Given the description of an element on the screen output the (x, y) to click on. 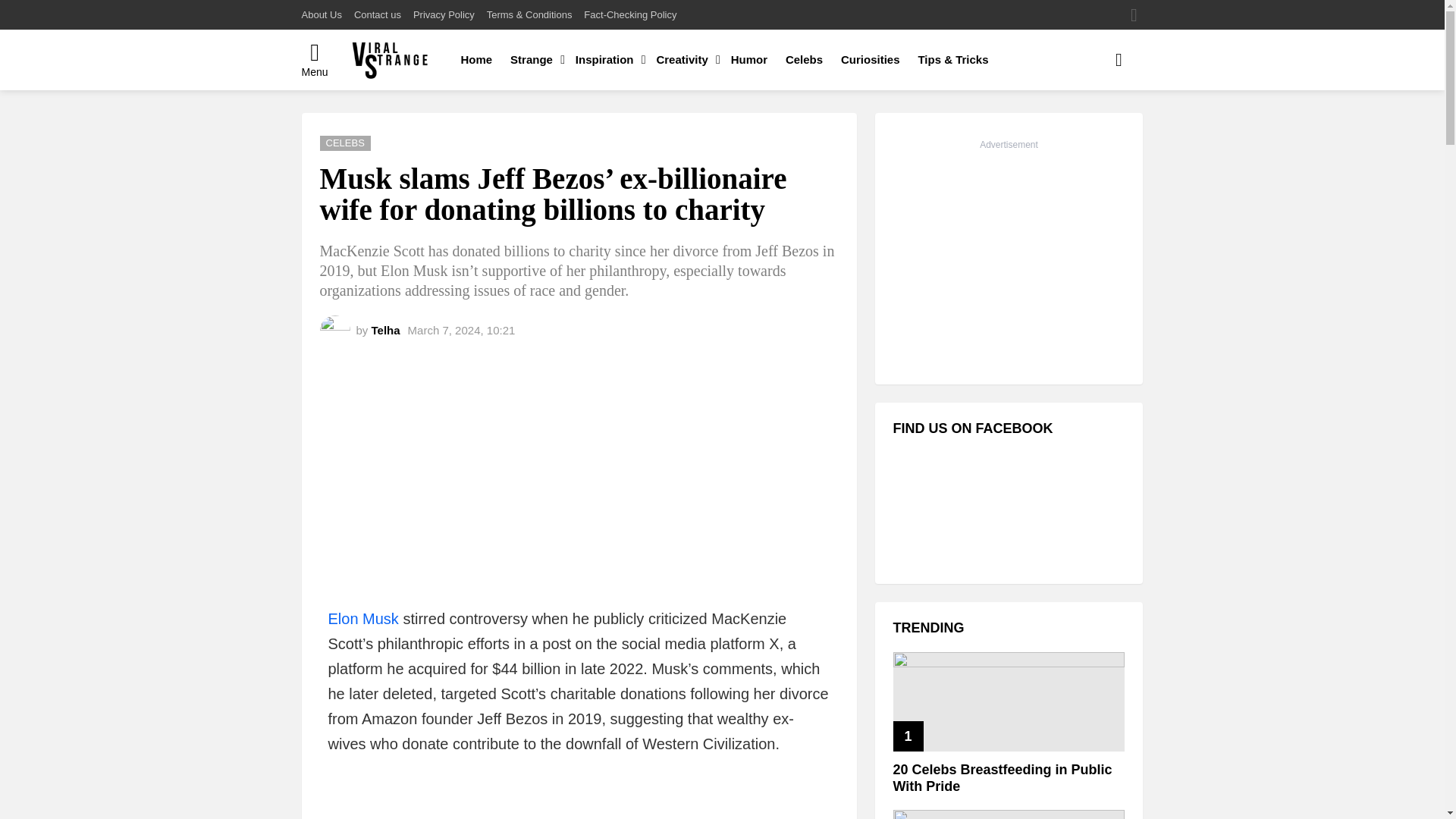
Celebs (803, 59)
Fact-Checking Policy (630, 15)
Privacy Policy (443, 15)
Contact us (377, 15)
Strange (533, 59)
Humor (748, 59)
Inspiration (606, 59)
Posts by Telha (385, 329)
Home (476, 59)
About Us (321, 15)
